Given the description of an element on the screen output the (x, y) to click on. 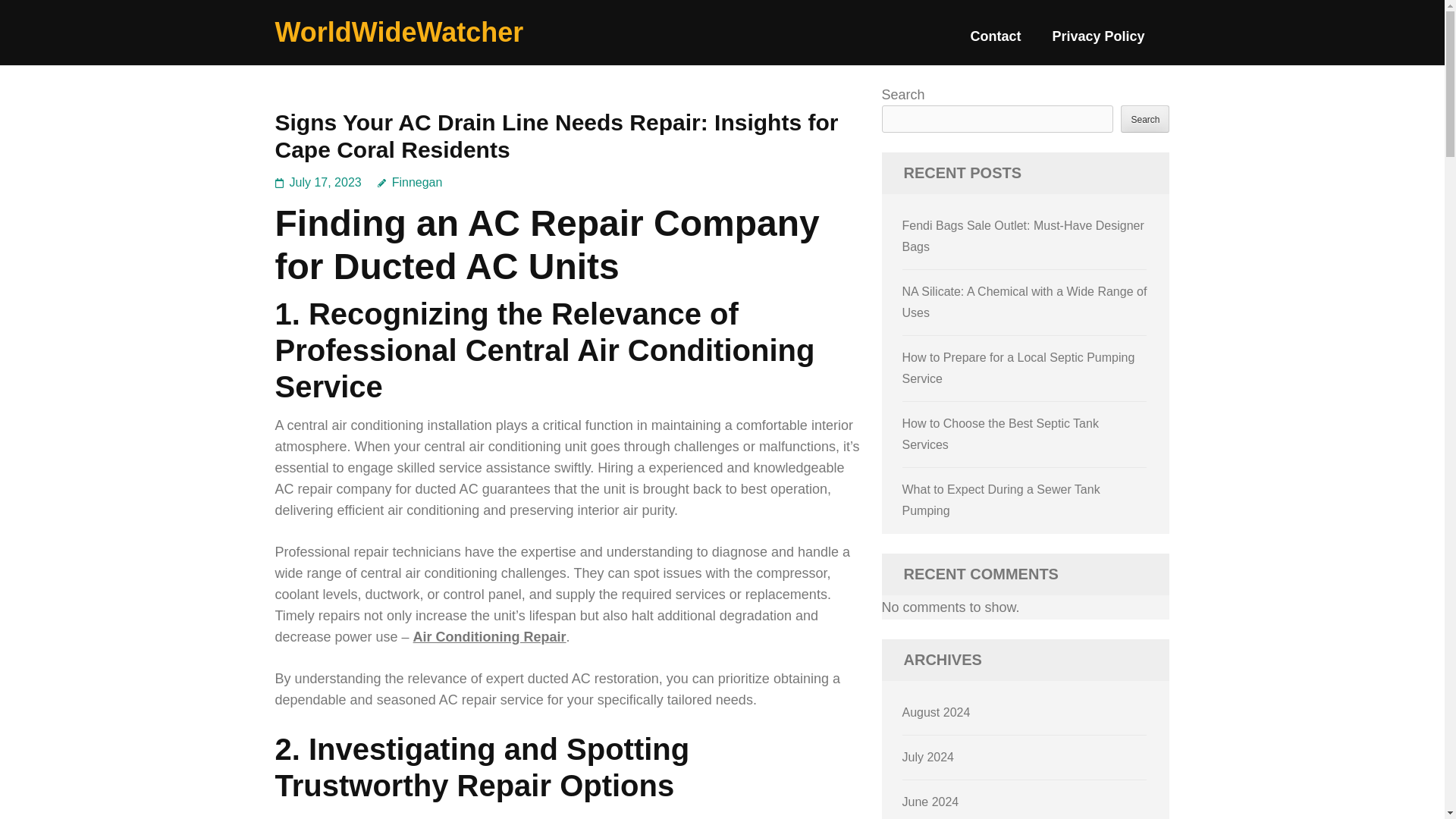
How to Prepare for a Local Septic Pumping Service (1018, 367)
August 2024 (936, 712)
Privacy Policy (1097, 42)
NA Silicate: A Chemical with a Wide Range of Uses (1024, 302)
Fendi Bags Sale Outlet: Must-Have Designer Bags (1023, 236)
Finnegan (409, 182)
June 2024 (930, 801)
Search (1145, 118)
Contact (994, 42)
How to Choose the Best Septic Tank Services (1000, 433)
